Given the description of an element on the screen output the (x, y) to click on. 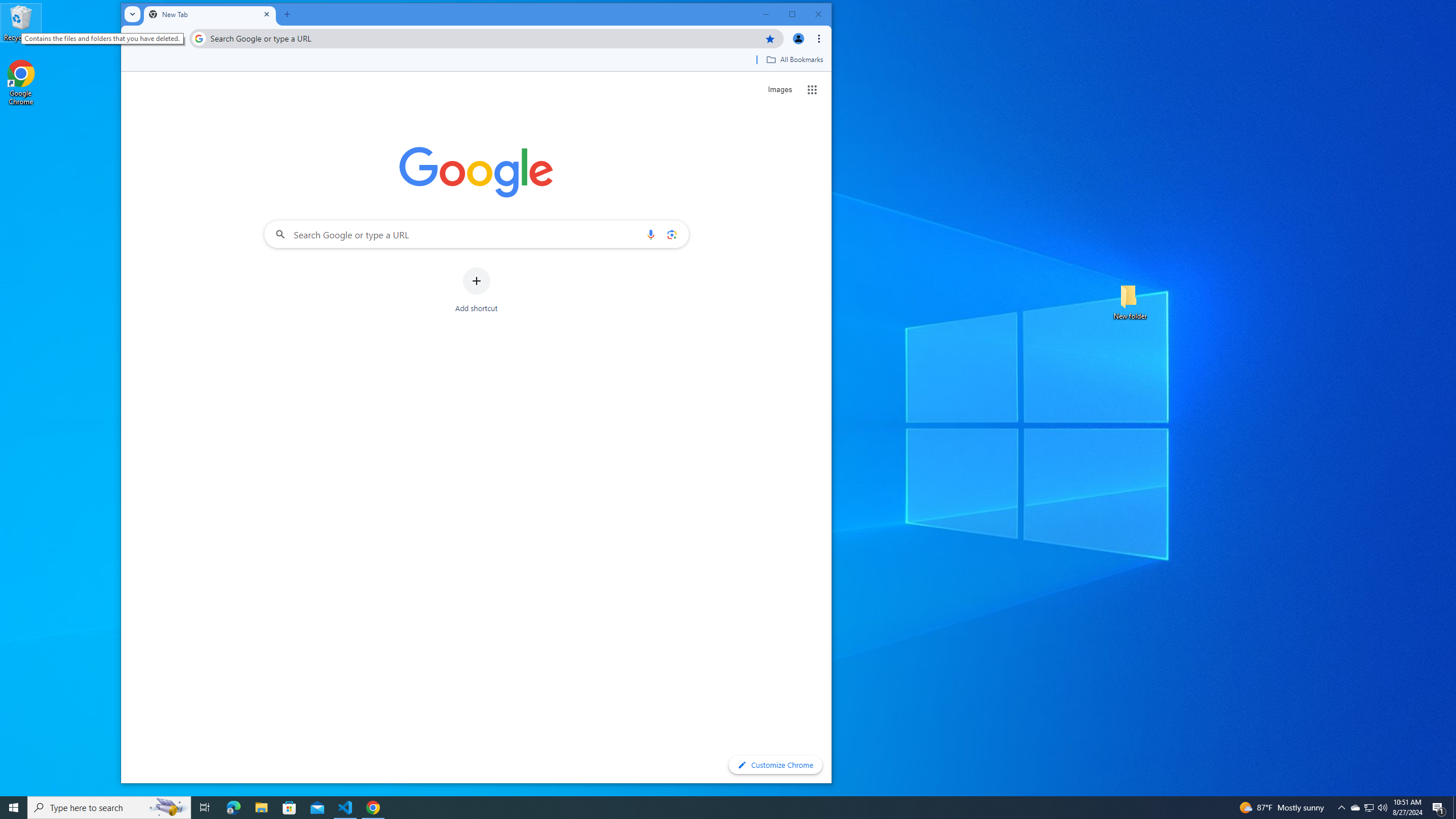
Recycle Bin (21, 22)
Google Chrome (21, 82)
New folder (1130, 301)
